Given the description of an element on the screen output the (x, y) to click on. 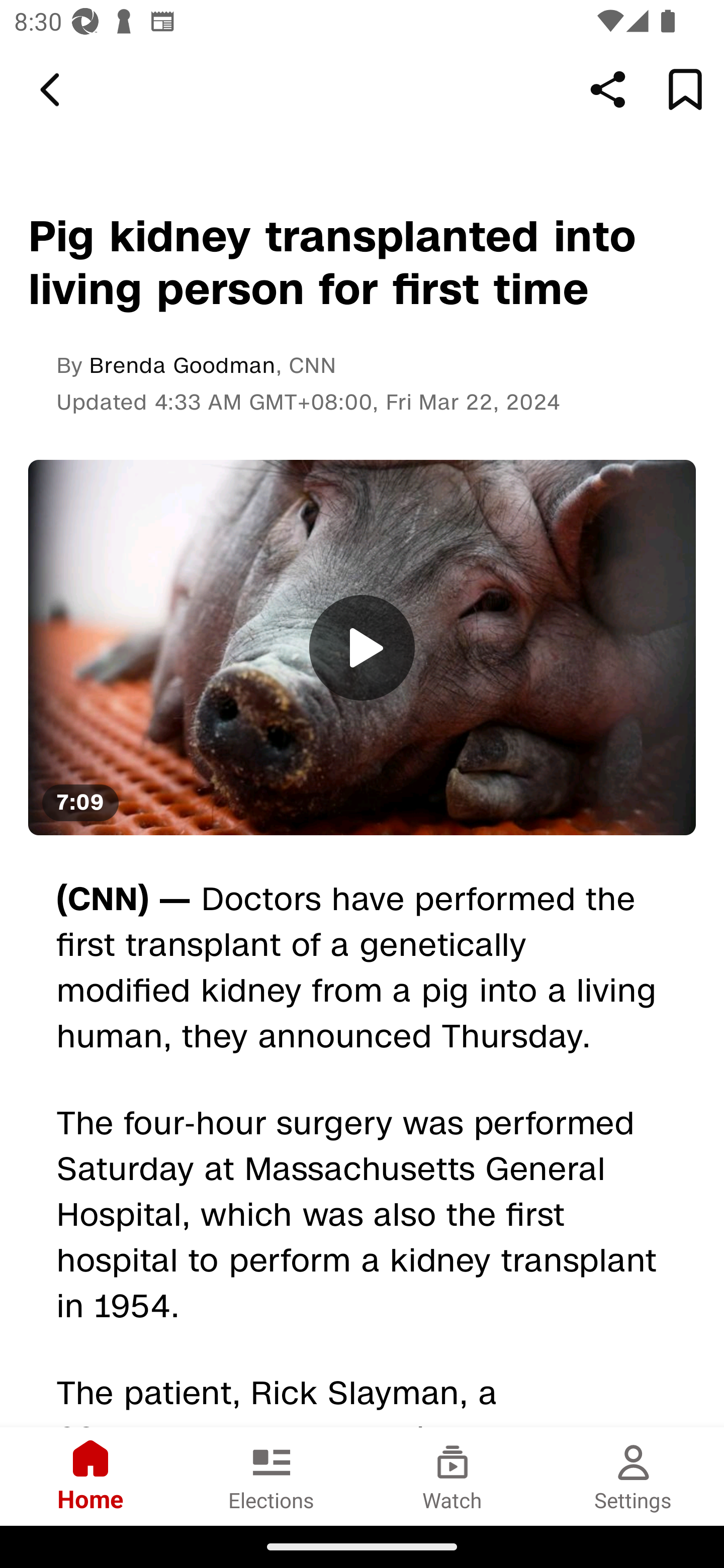
Back Button (52, 89)
Share (607, 89)
Bookmark (685, 89)
Elections (271, 1475)
Watch (452, 1475)
Settings (633, 1475)
